Given the description of an element on the screen output the (x, y) to click on. 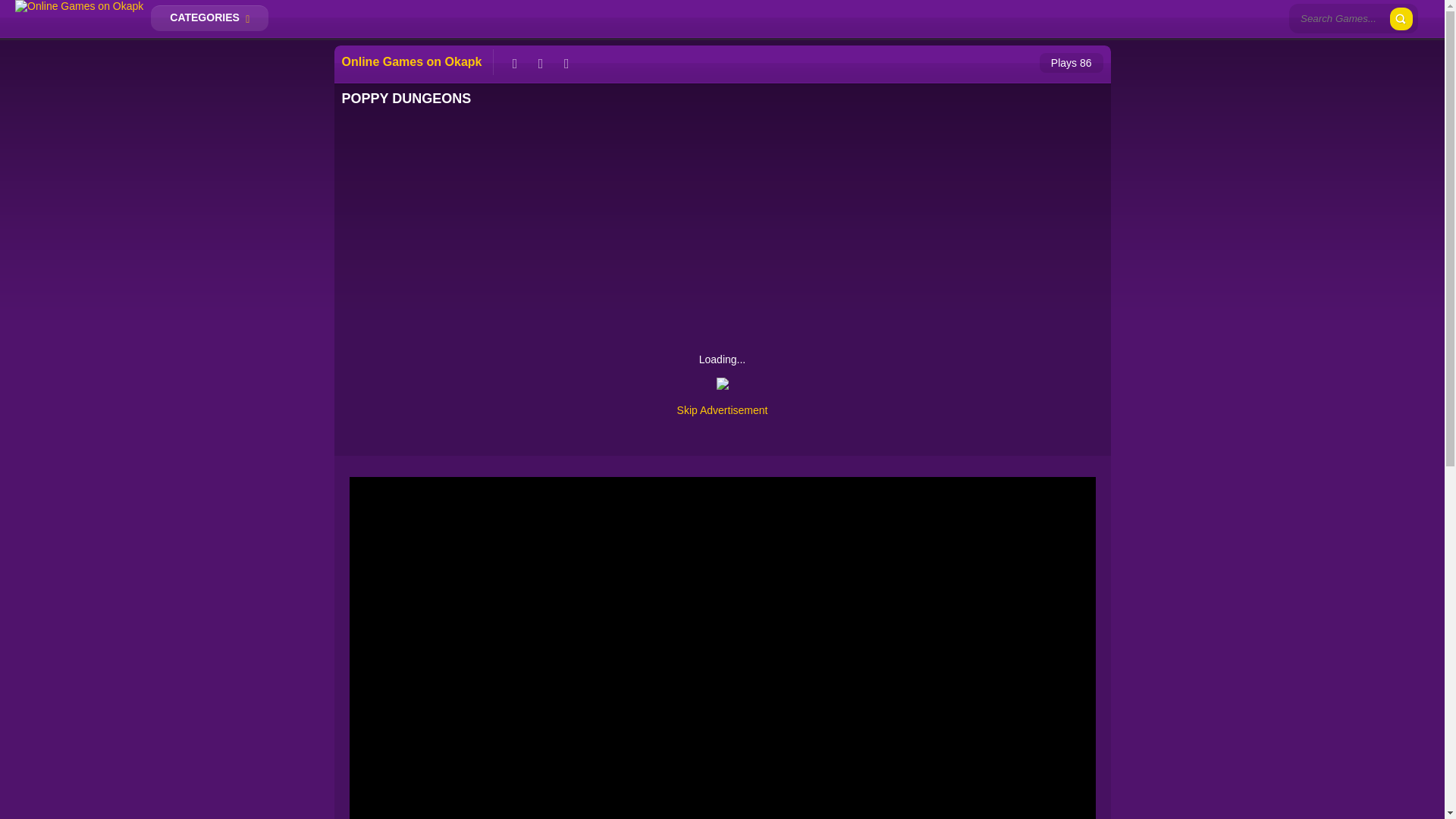
CATEGORIES (209, 17)
Play in fullscreen (566, 62)
Online Games on Okapk (78, 6)
Skip Advertisement (722, 410)
